Given the description of an element on the screen output the (x, y) to click on. 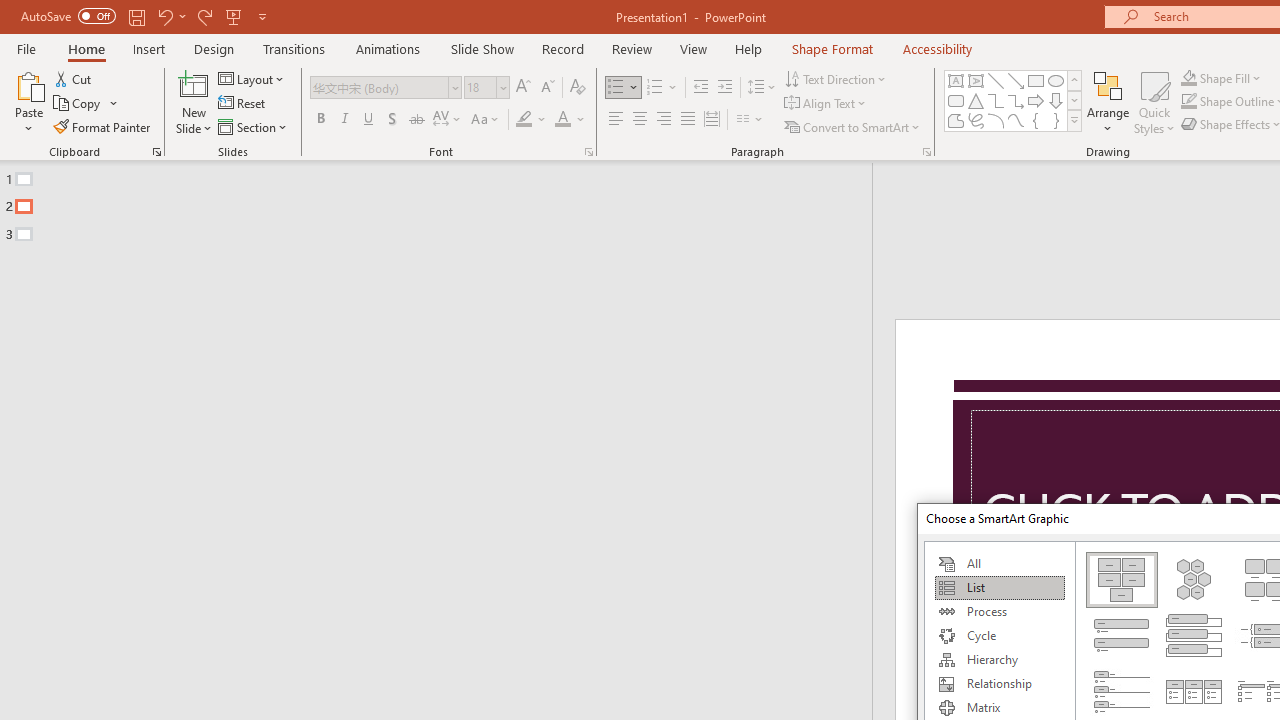
All (999, 564)
Outline (445, 202)
Paragraph... (926, 151)
Review (631, 48)
Design (214, 48)
Align Text (826, 103)
Connector: Elbow (995, 100)
Numbering (654, 87)
Character Spacing (447, 119)
Underline (369, 119)
Text Highlight Color (531, 119)
Matrix (999, 708)
Strikethrough (416, 119)
Horizontal Bullet List (1194, 691)
